Given the description of an element on the screen output the (x, y) to click on. 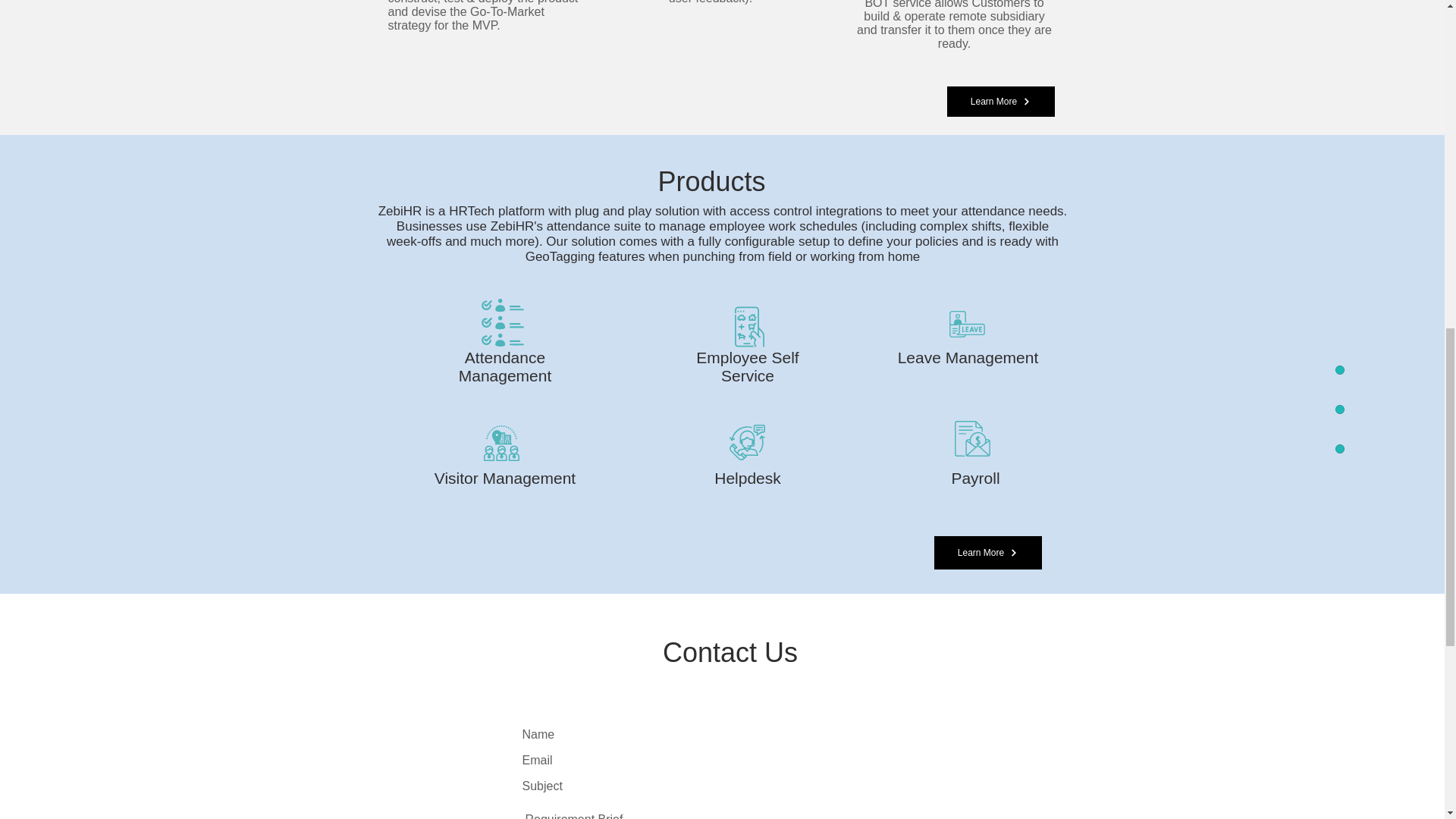
Learn More (988, 552)
Learn More (1000, 101)
